Given the description of an element on the screen output the (x, y) to click on. 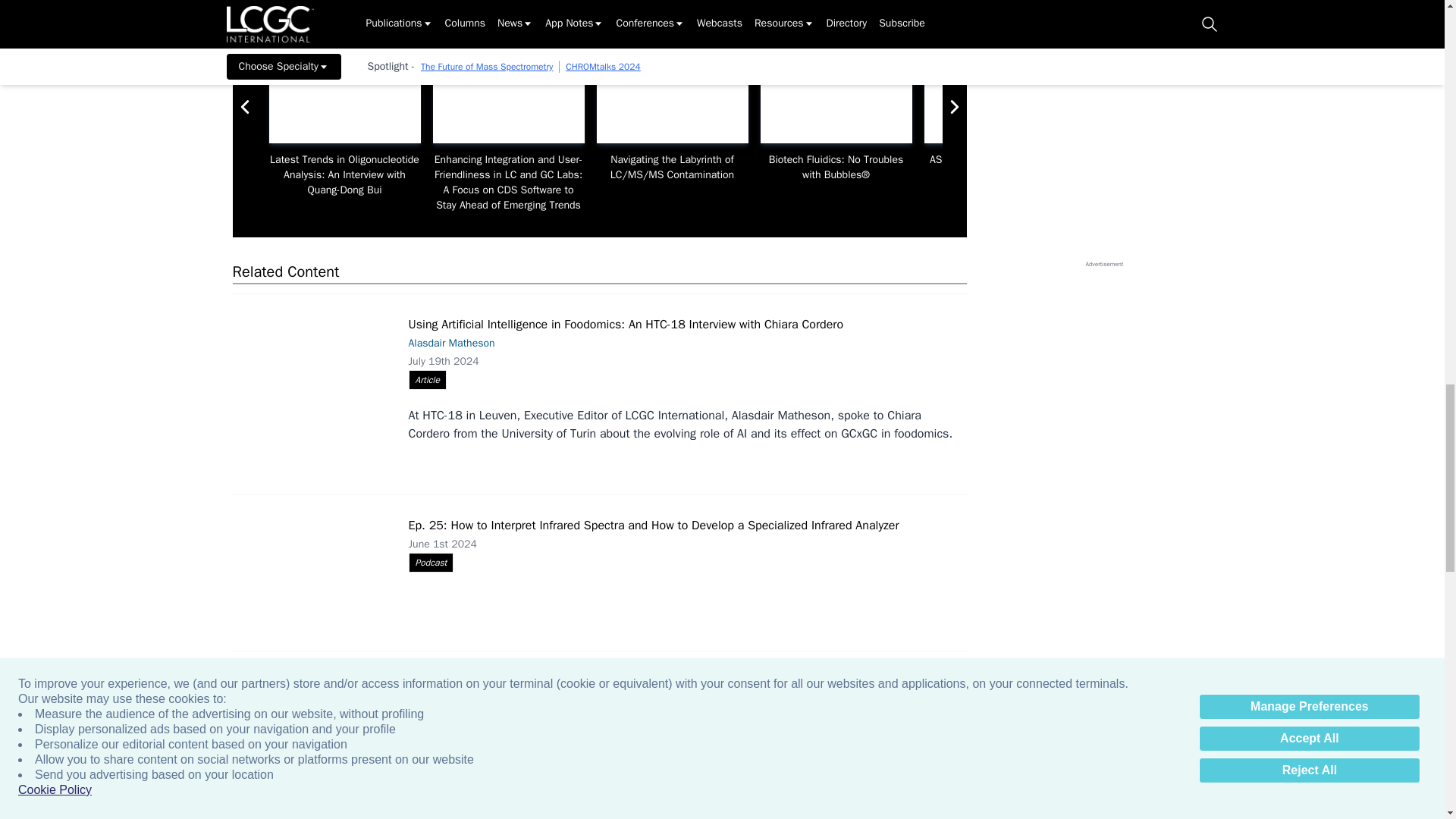
2LabsToGo: An Analytica Interview with Gertrud E. Morlock (1163, 100)
ASMS 2024: An Interview with Peter Horvatovich (999, 100)
